Given the description of an element on the screen output the (x, y) to click on. 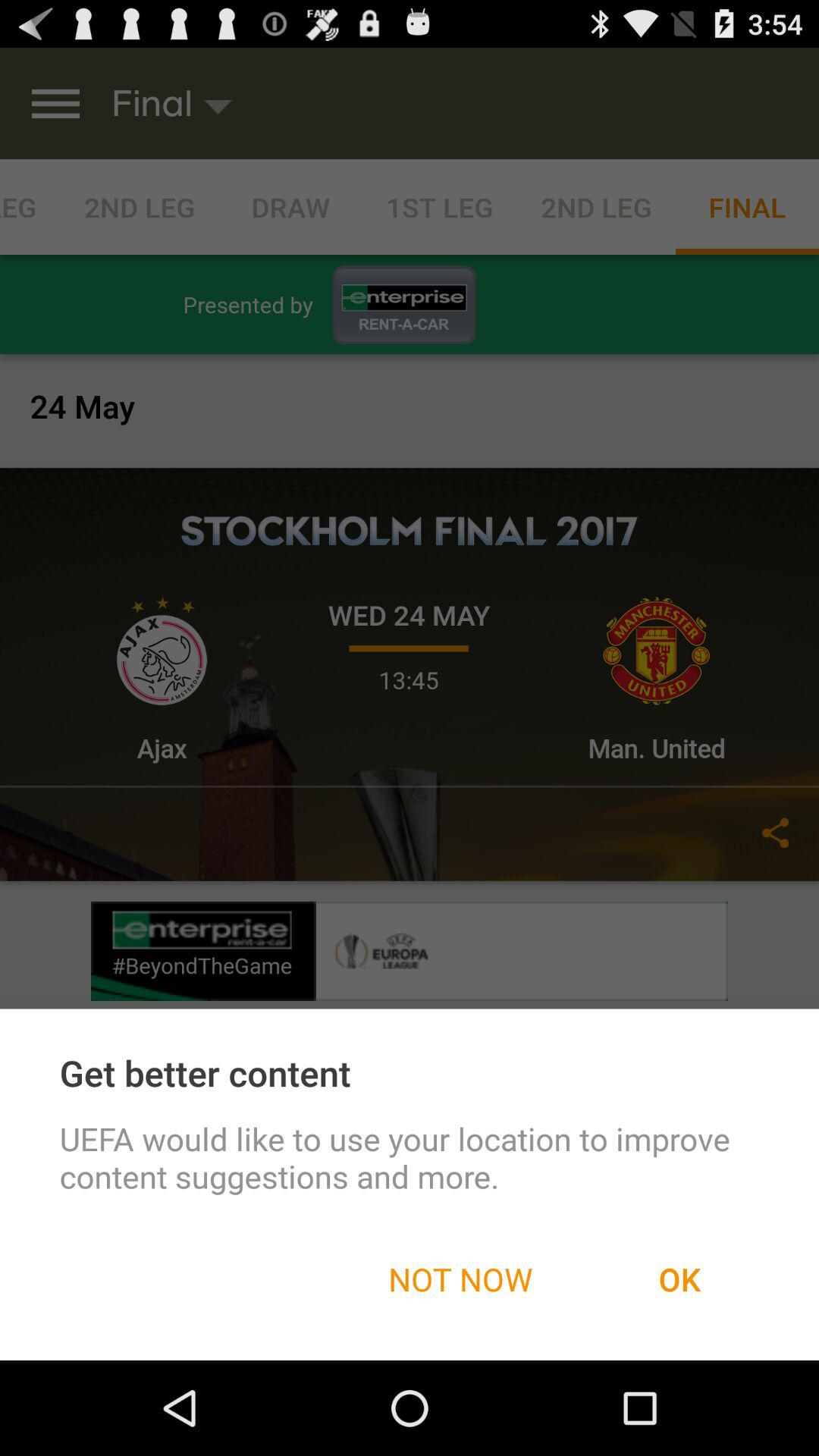
turn off the icon at the center (409, 703)
